Given the description of an element on the screen output the (x, y) to click on. 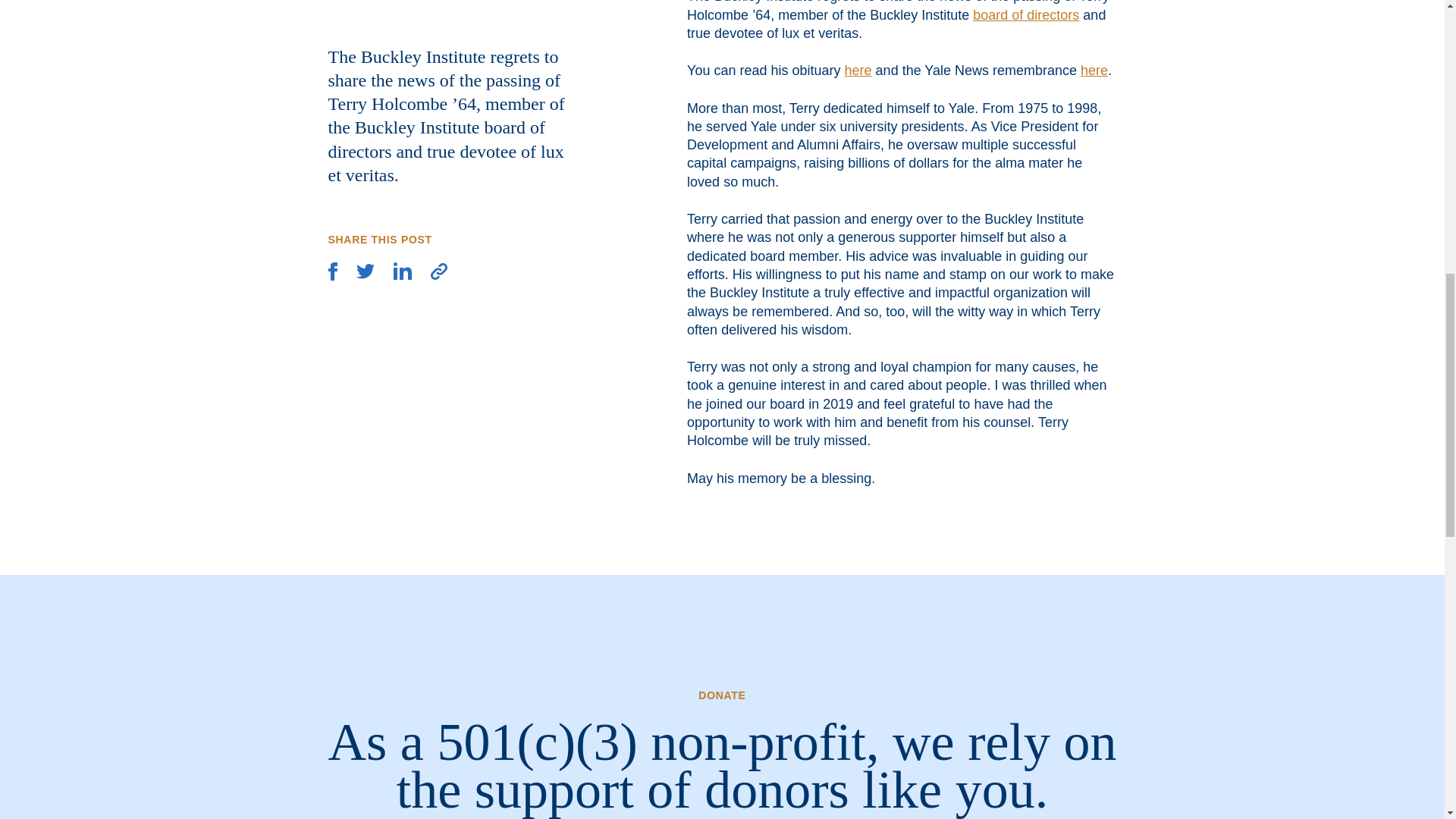
here (1094, 70)
board of directors (1025, 14)
here (858, 70)
